Given the description of an element on the screen output the (x, y) to click on. 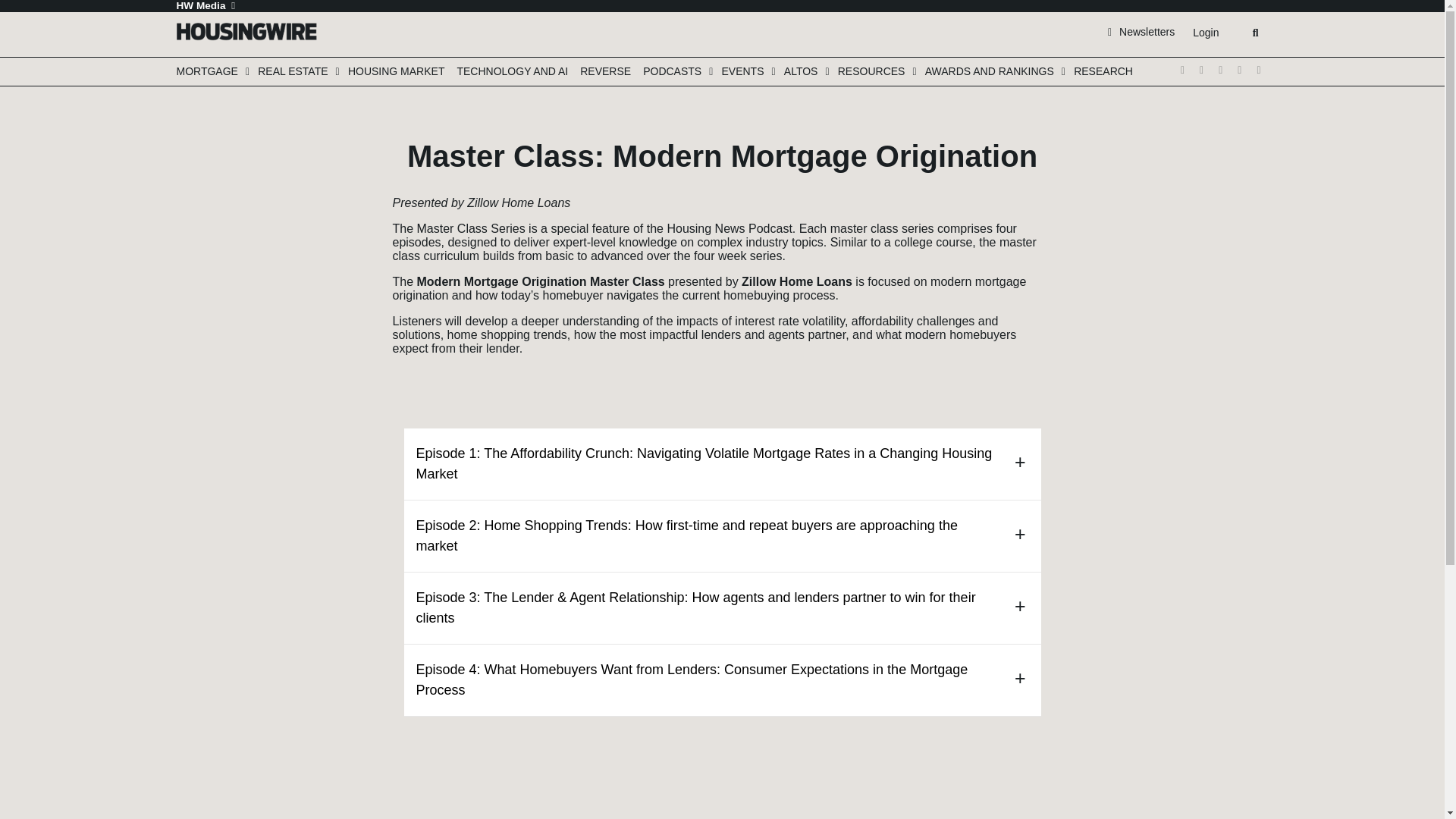
Newsletters (1141, 31)
Login (1205, 32)
